Given the description of an element on the screen output the (x, y) to click on. 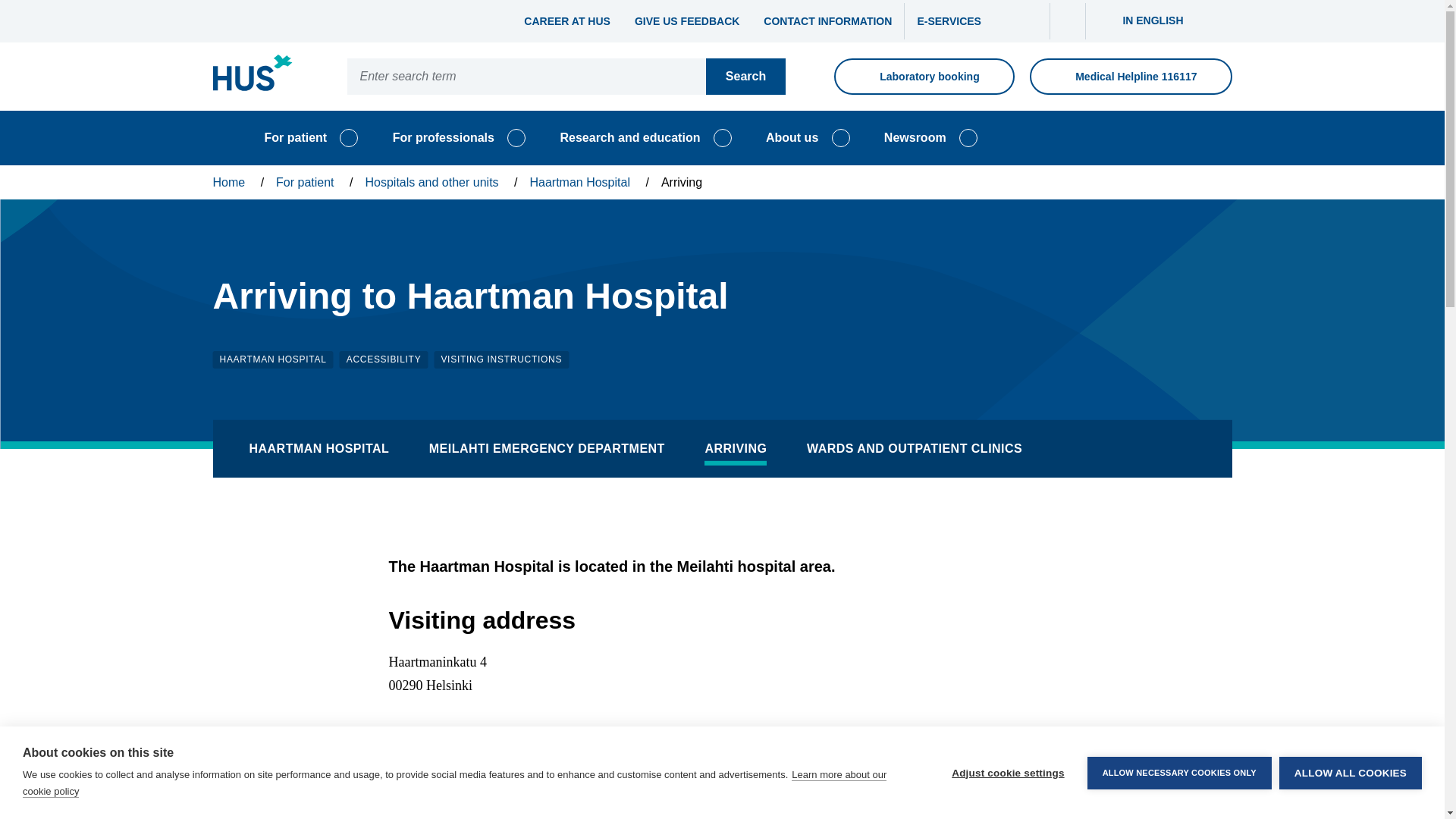
Medical Helpline 116117 (1130, 76)
Front page (252, 75)
E-SERVICES (955, 21)
CAREER AT HUS (567, 21)
GIVE US FEEDBACK (687, 21)
Show submenu: E-services (1067, 21)
Show submenu: For patient (348, 137)
For patient (295, 137)
Search (746, 76)
Home (217, 137)
CONTACT INFORMATION (827, 21)
